Given the description of an element on the screen output the (x, y) to click on. 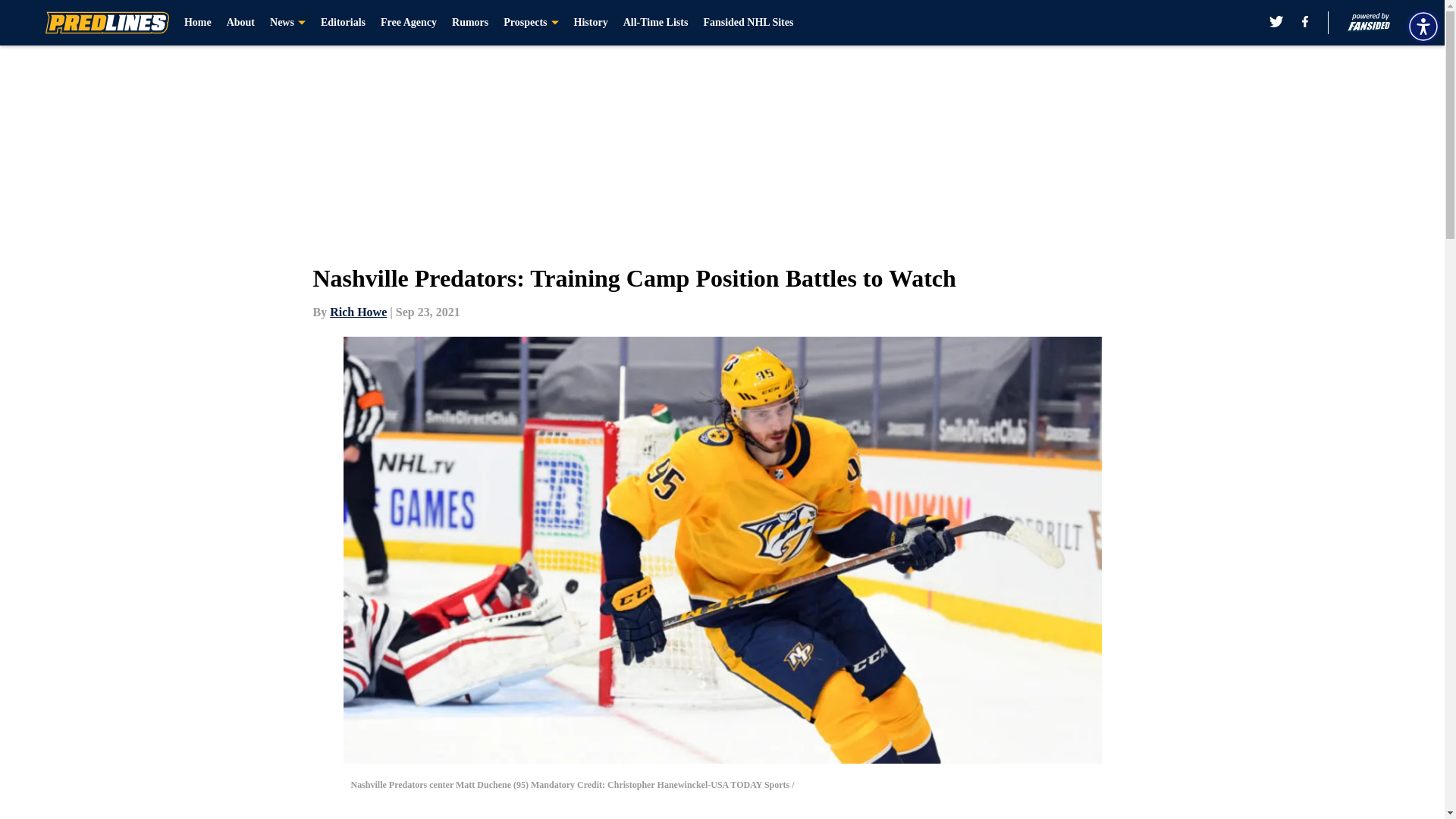
Accessibility Menu (1422, 26)
Home (197, 22)
All-Time Lists (655, 22)
About (240, 22)
Fansided NHL Sites (748, 22)
History (590, 22)
Rich Howe (358, 311)
Editorials (342, 22)
Free Agency (408, 22)
Rumors (469, 22)
